Given the description of an element on the screen output the (x, y) to click on. 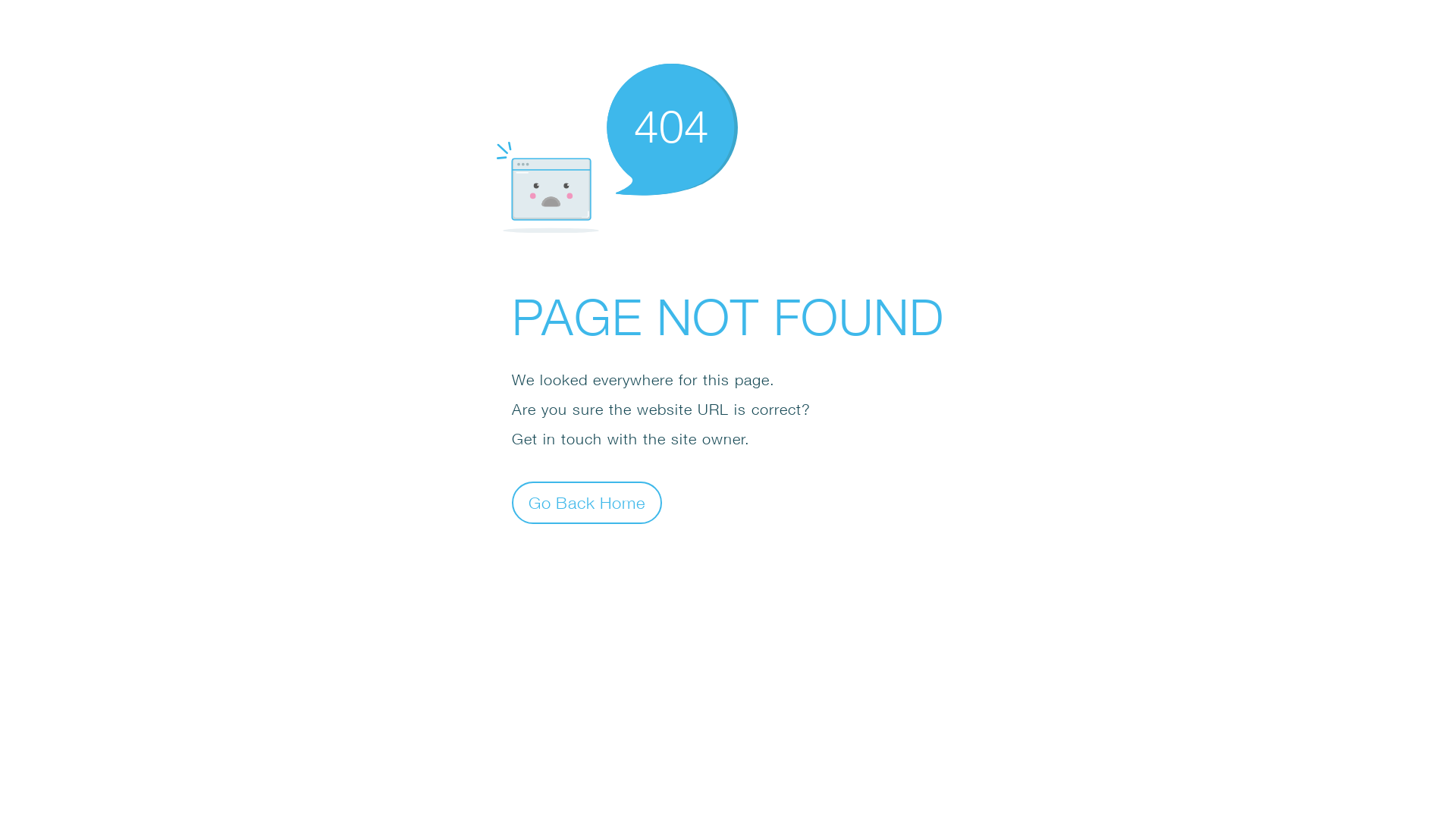
Go Back Home Element type: text (586, 502)
